Given the description of an element on the screen output the (x, y) to click on. 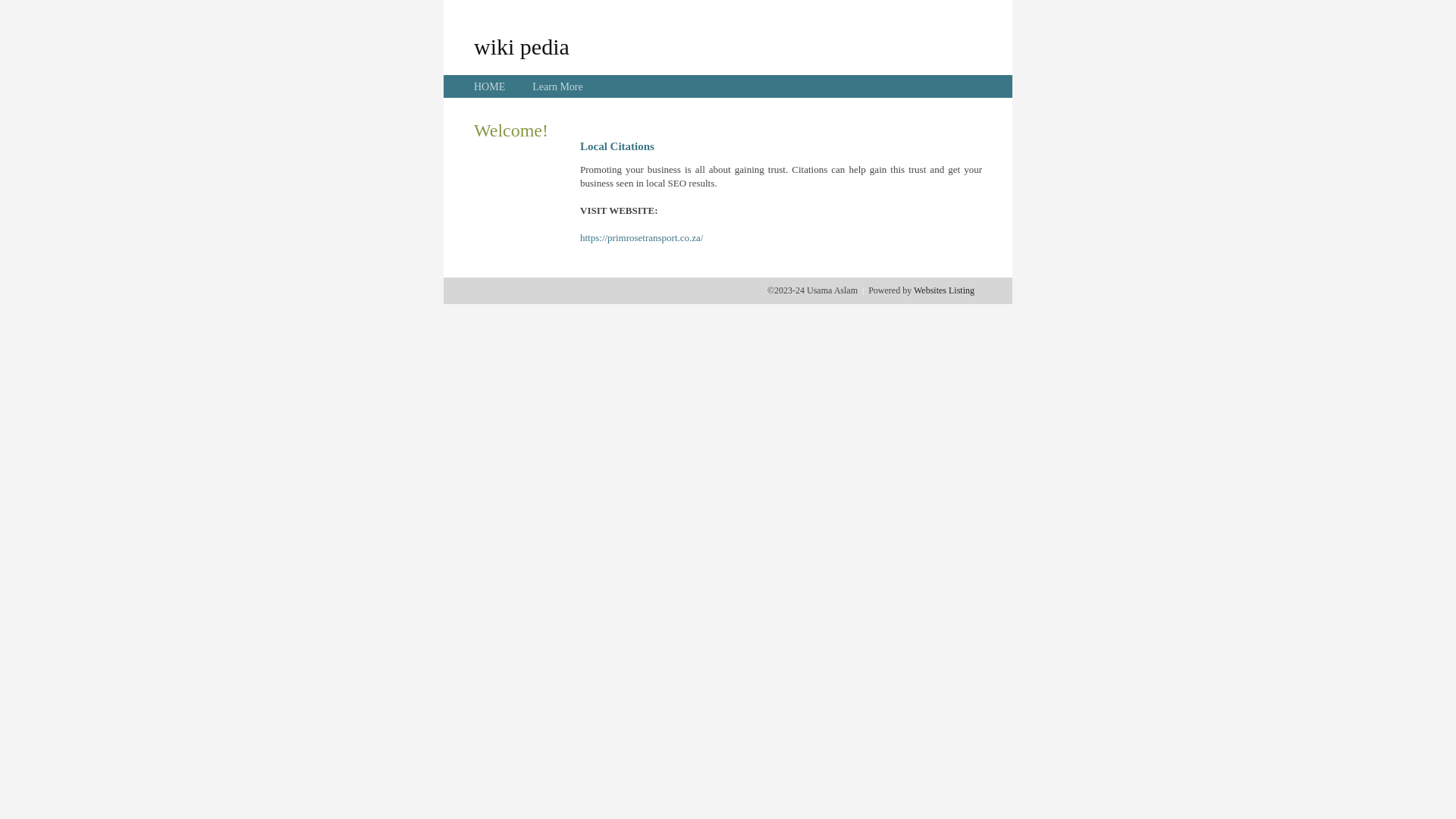
Websites Listing Element type: text (943, 290)
wiki pedia Element type: text (521, 46)
https://primrosetransport.co.za/ Element type: text (641, 237)
Learn More Element type: text (557, 86)
HOME Element type: text (489, 86)
